Given the description of an element on the screen output the (x, y) to click on. 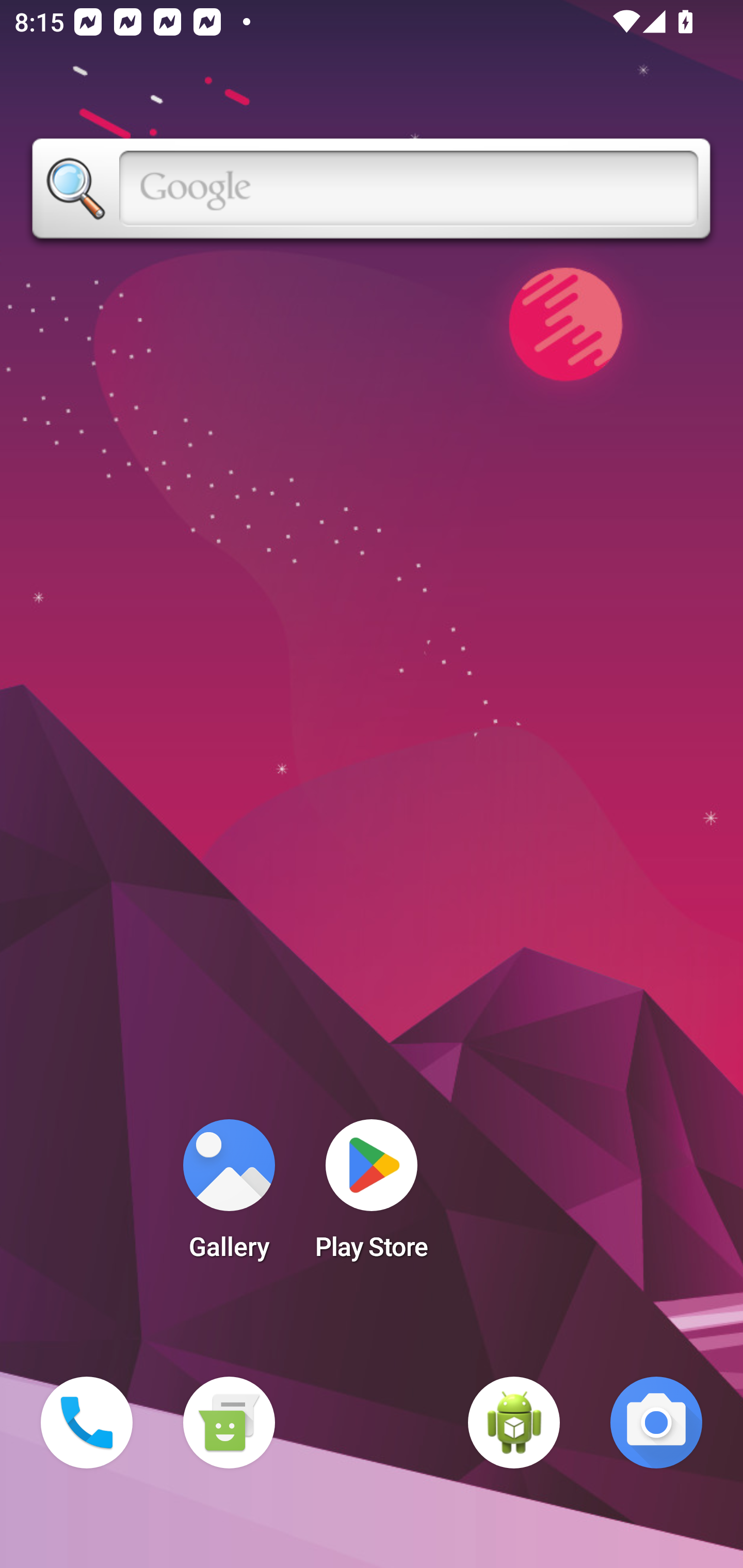
Gallery (228, 1195)
Play Store (371, 1195)
Phone (86, 1422)
Messaging (228, 1422)
WebView Browser Tester (513, 1422)
Camera (656, 1422)
